Given the description of an element on the screen output the (x, y) to click on. 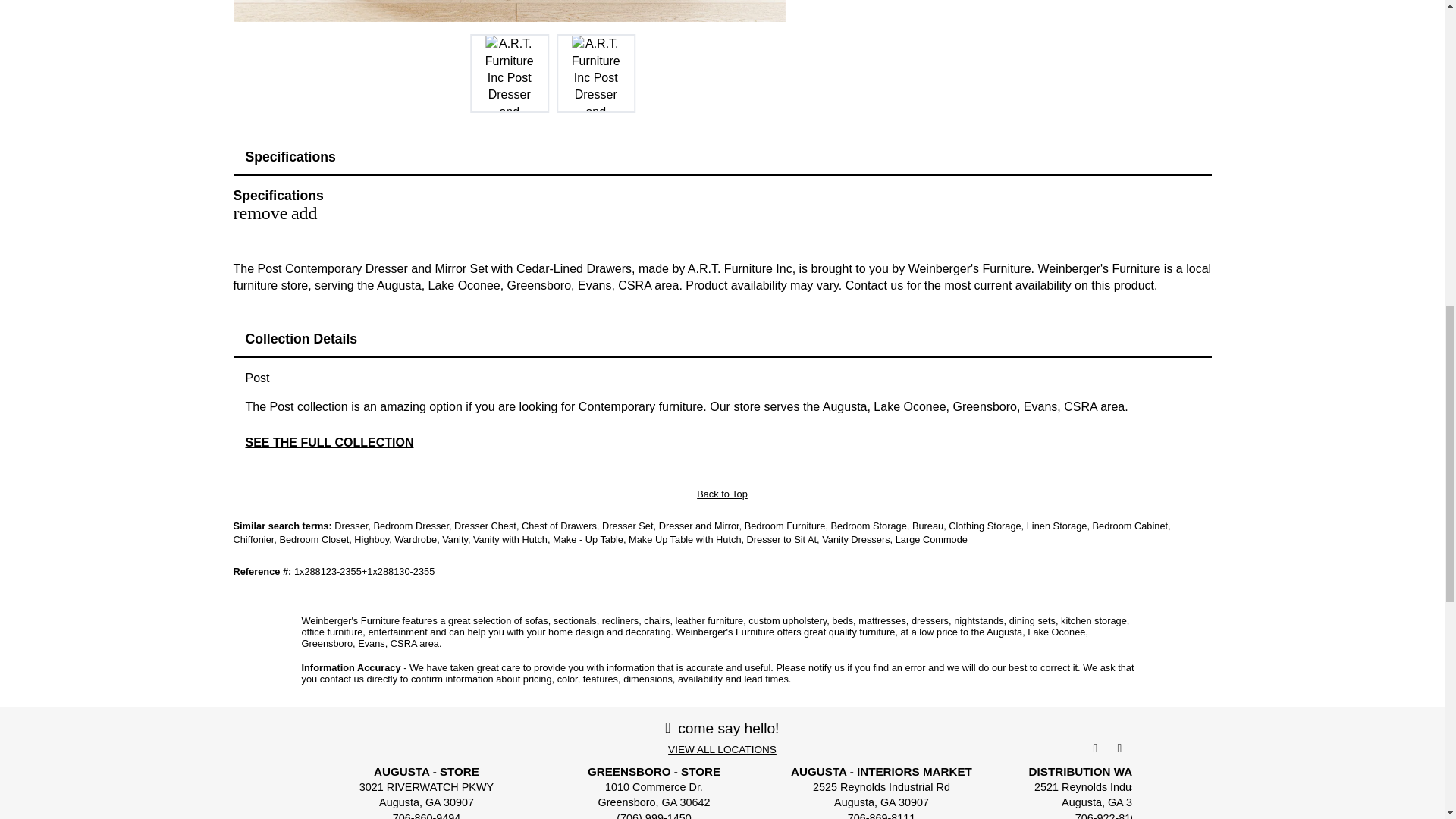
SEE THE FULL COLLECTION (329, 441)
Contact us (873, 285)
Back to Top (722, 493)
